Given the description of an element on the screen output the (x, y) to click on. 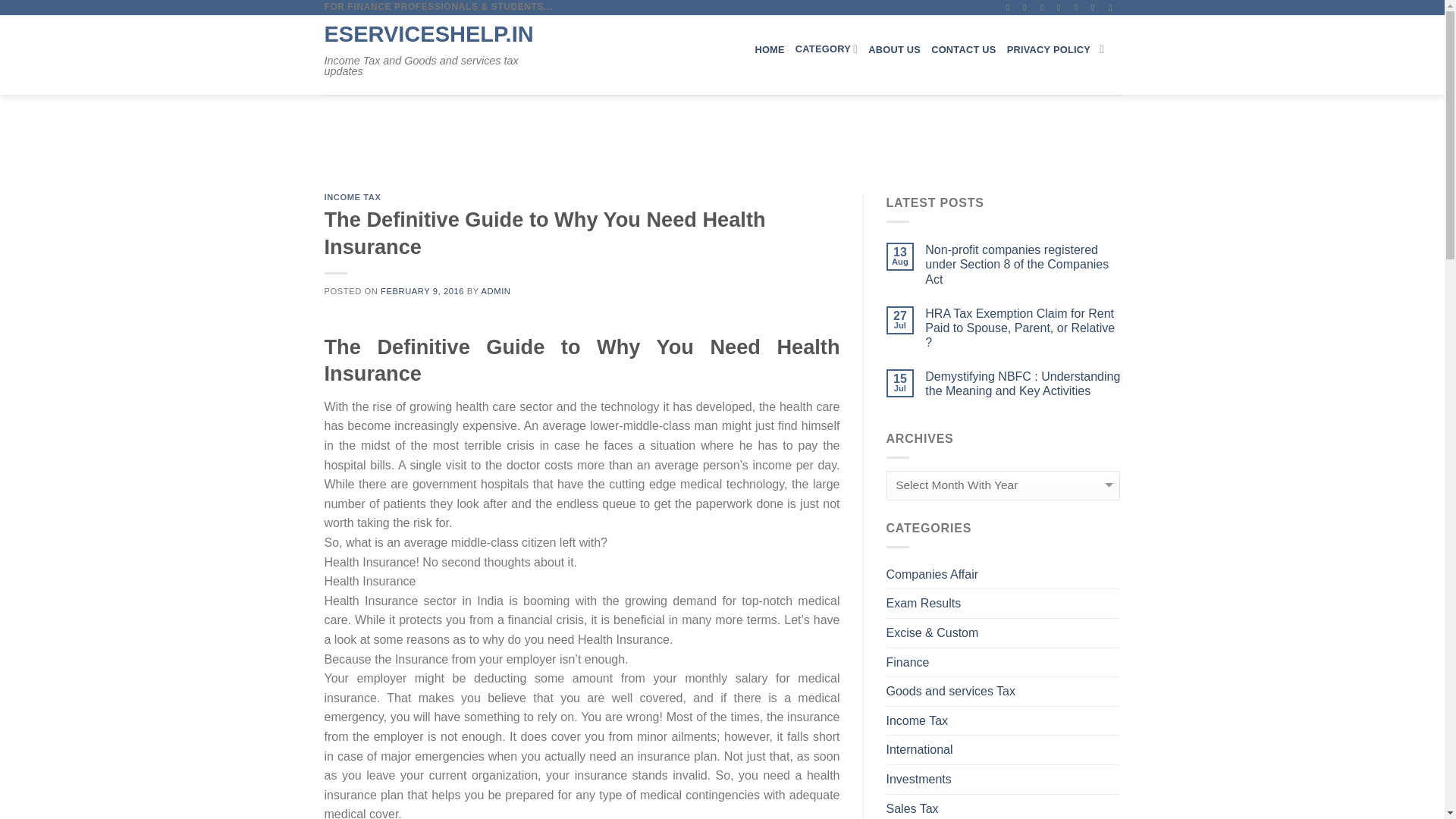
ESERVICESHELP.IN (436, 34)
Follow on Twitter (1046, 7)
ADMIN (496, 290)
Category (825, 48)
Follow on Pinterest (1080, 7)
Follow on Instagram (1028, 7)
CONTACT US (963, 48)
Send us an email (1062, 7)
INCOME TAX (352, 196)
FEBRUARY 9, 2016 (422, 290)
